Given the description of an element on the screen output the (x, y) to click on. 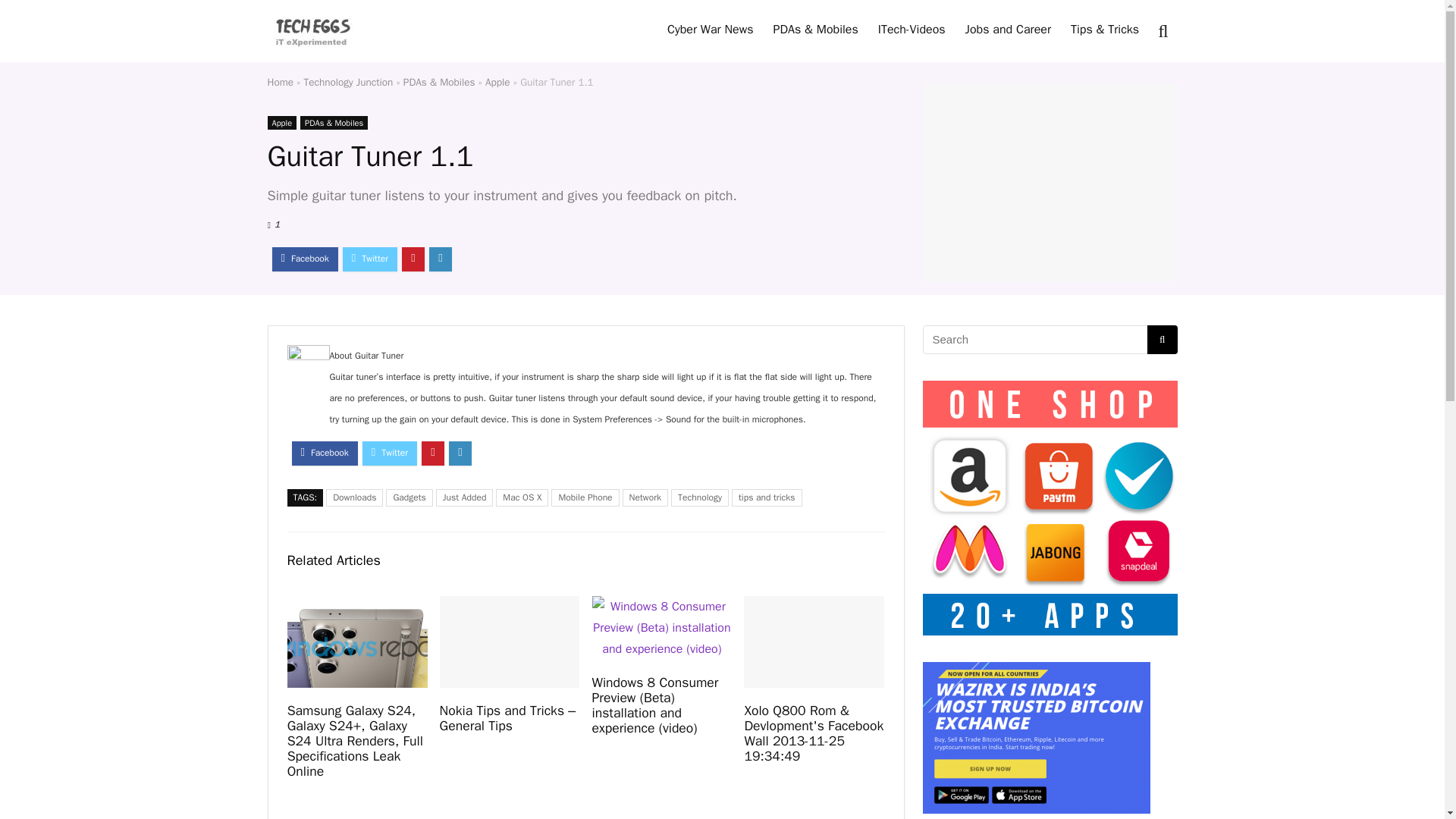
Just Added (464, 497)
View all posts in Apple (281, 122)
Downloads (354, 497)
Technology (700, 497)
Gadgets (408, 497)
Apple (497, 82)
Network (645, 497)
Mobile Phone (584, 497)
Home (280, 82)
Mac OS X (522, 497)
Jobs and Career (1008, 30)
Apple (281, 122)
ITech-Videos (911, 30)
Technology Junction (348, 82)
Cyber War News (710, 30)
